Given the description of an element on the screen output the (x, y) to click on. 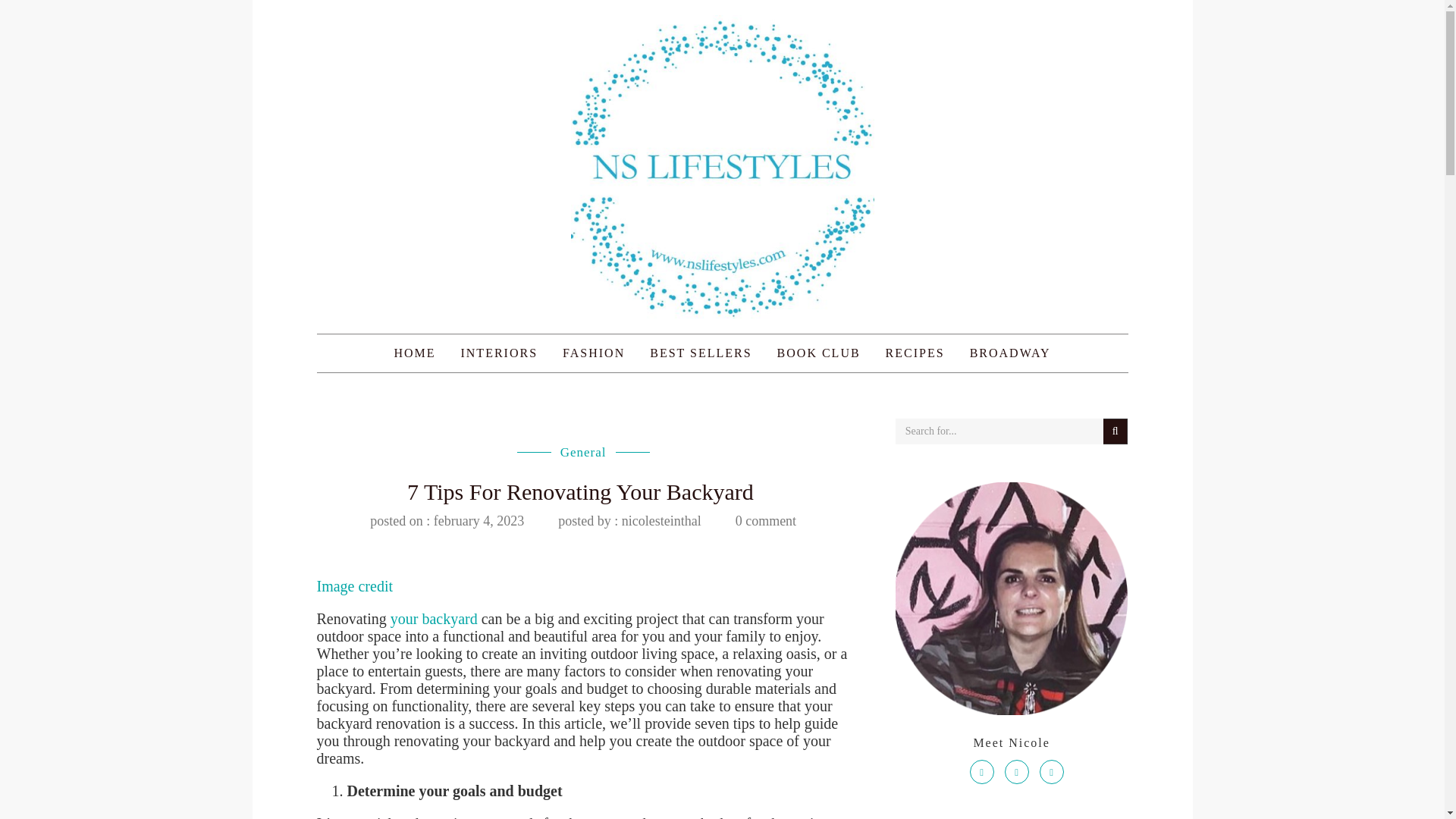
BEST SELLERS (700, 353)
posted by : nicolesteinthal (628, 520)
BROADWAY (1010, 353)
HOME (414, 353)
FASHION (593, 353)
RECIPES (915, 353)
General (583, 452)
0 comment (765, 520)
BOOK CLUB (818, 353)
your backyard (433, 618)
INTERIORS (498, 353)
Image credit (355, 586)
posted on : february 4, 2023 (446, 520)
